Given the description of an element on the screen output the (x, y) to click on. 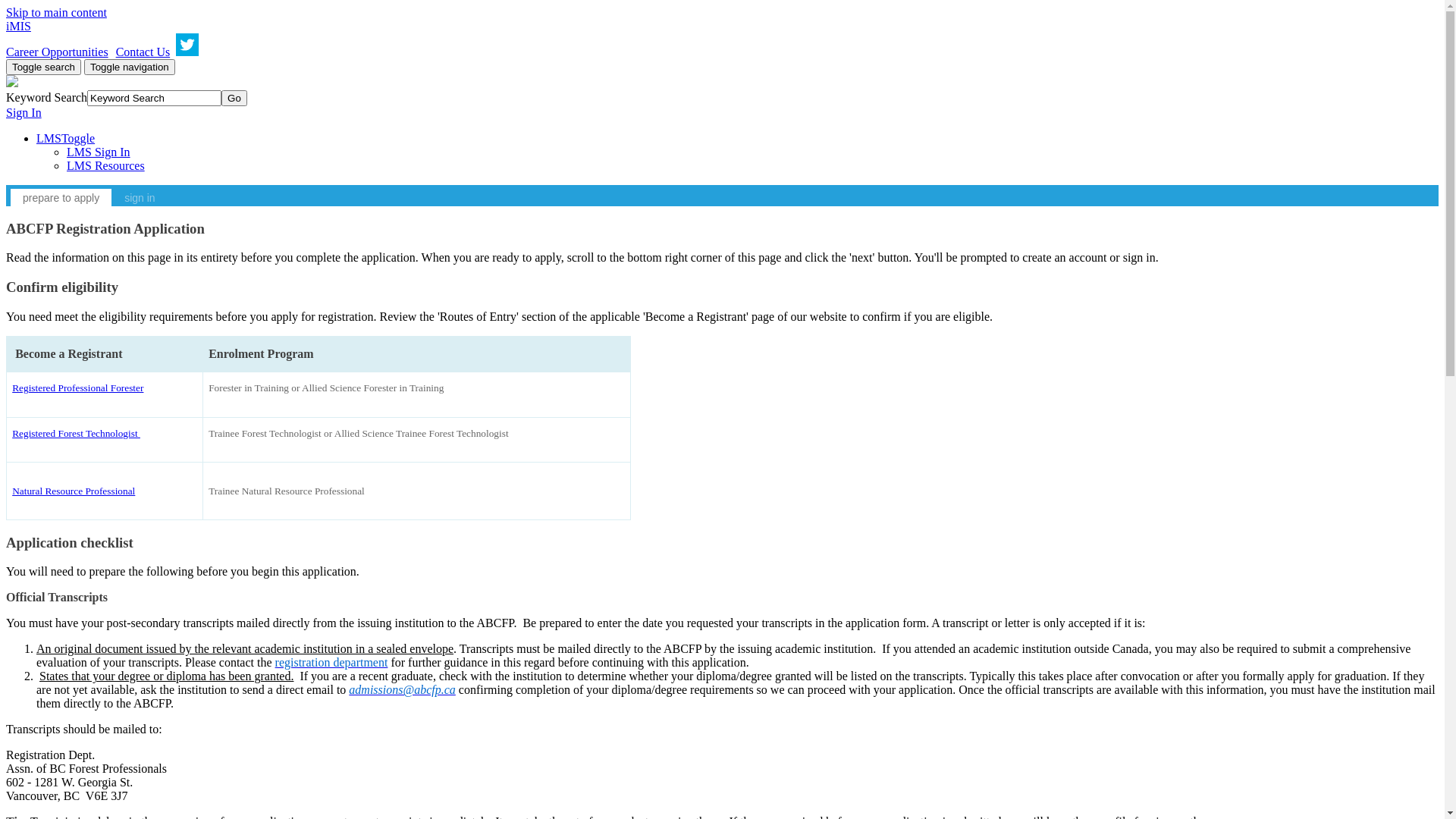
Career Opportunities Element type: text (57, 51)
iMIS Element type: text (18, 25)
Go Element type: text (234, 98)
Natural Resource Professional Element type: text (73, 490)
admissions@abcfp.ca Element type: text (401, 689)
Toggle navigation Element type: text (129, 67)
LMS Sign In Element type: text (98, 151)
Skip to main content Element type: text (56, 12)
LMSToggle Element type: text (65, 137)
sign in Element type: text (139, 197)
Registered Professional Forester Element type: text (77, 387)
LMS Resources Element type: text (105, 165)
Refresh Element type: text (23, 7)
Registered Forest Technologist  Element type: text (76, 433)
Contact Us Element type: text (139, 51)
Toggle search Element type: text (43, 67)
prepare to apply Element type: text (60, 197)
registration department Element type: text (331, 661)
Sign In Element type: text (23, 112)
